Given the description of an element on the screen output the (x, y) to click on. 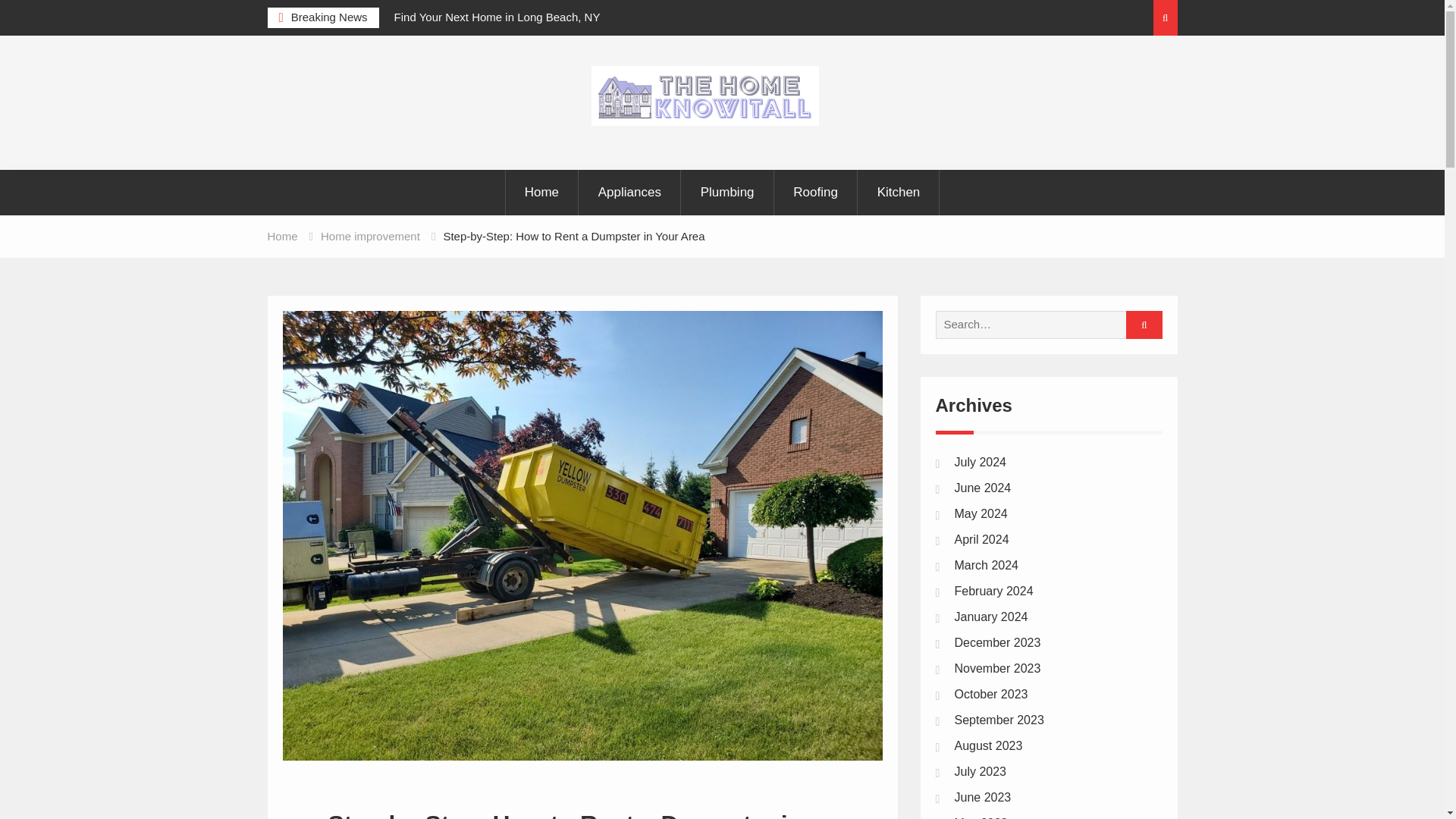
Home (541, 192)
Home (281, 236)
Kitchen (899, 192)
Roofing (815, 192)
Search for: (1043, 325)
Find Your Next Home in Long Beach, NY (497, 17)
Plumbing (727, 192)
July 2024 (979, 461)
Appliances (630, 192)
Home improvement (370, 236)
